Given the description of an element on the screen output the (x, y) to click on. 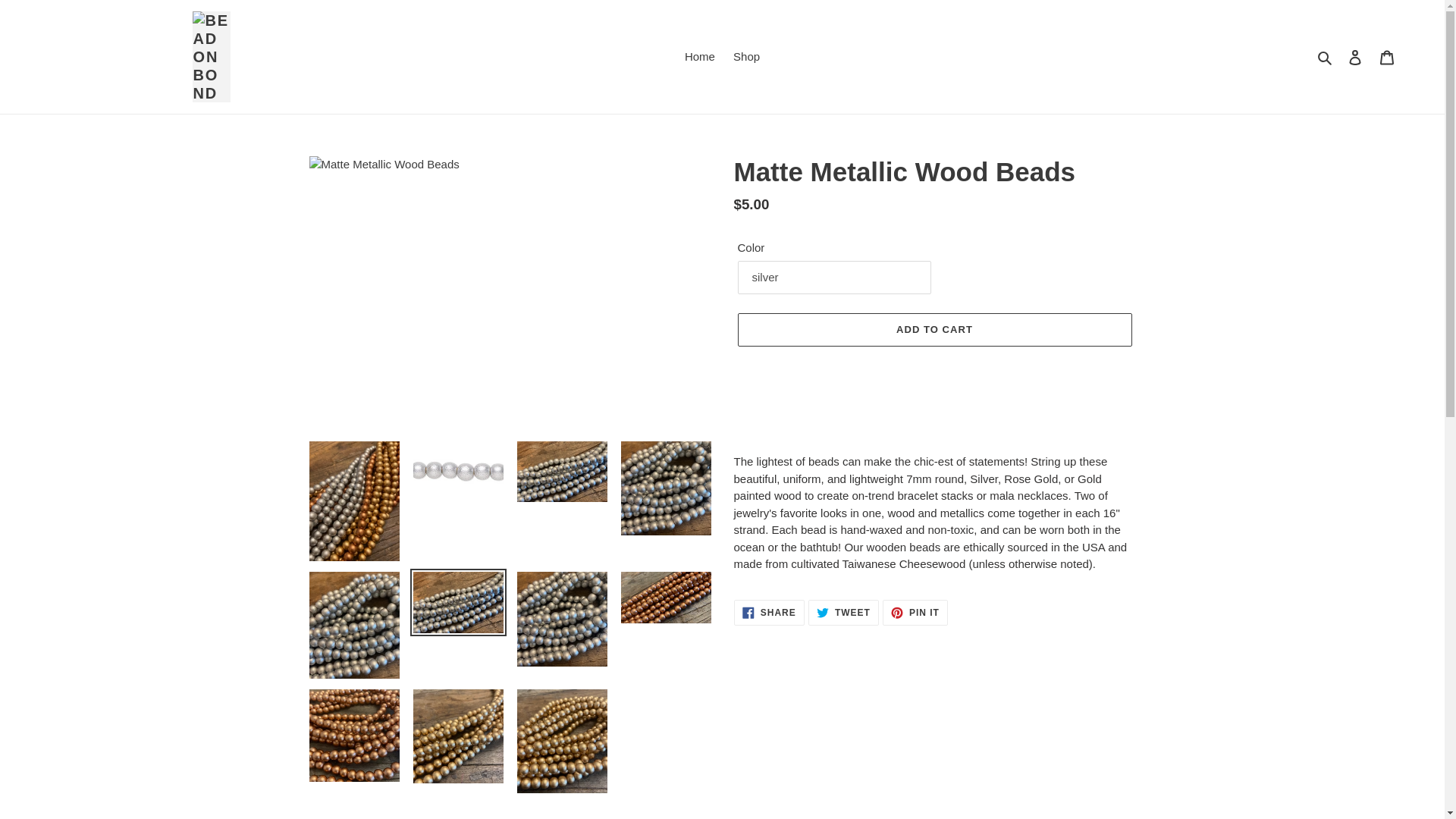
Shop (746, 56)
ADD TO CART (843, 612)
Cart (933, 329)
Search (1387, 56)
Log in (1326, 56)
Home (769, 612)
